Given the description of an element on the screen output the (x, y) to click on. 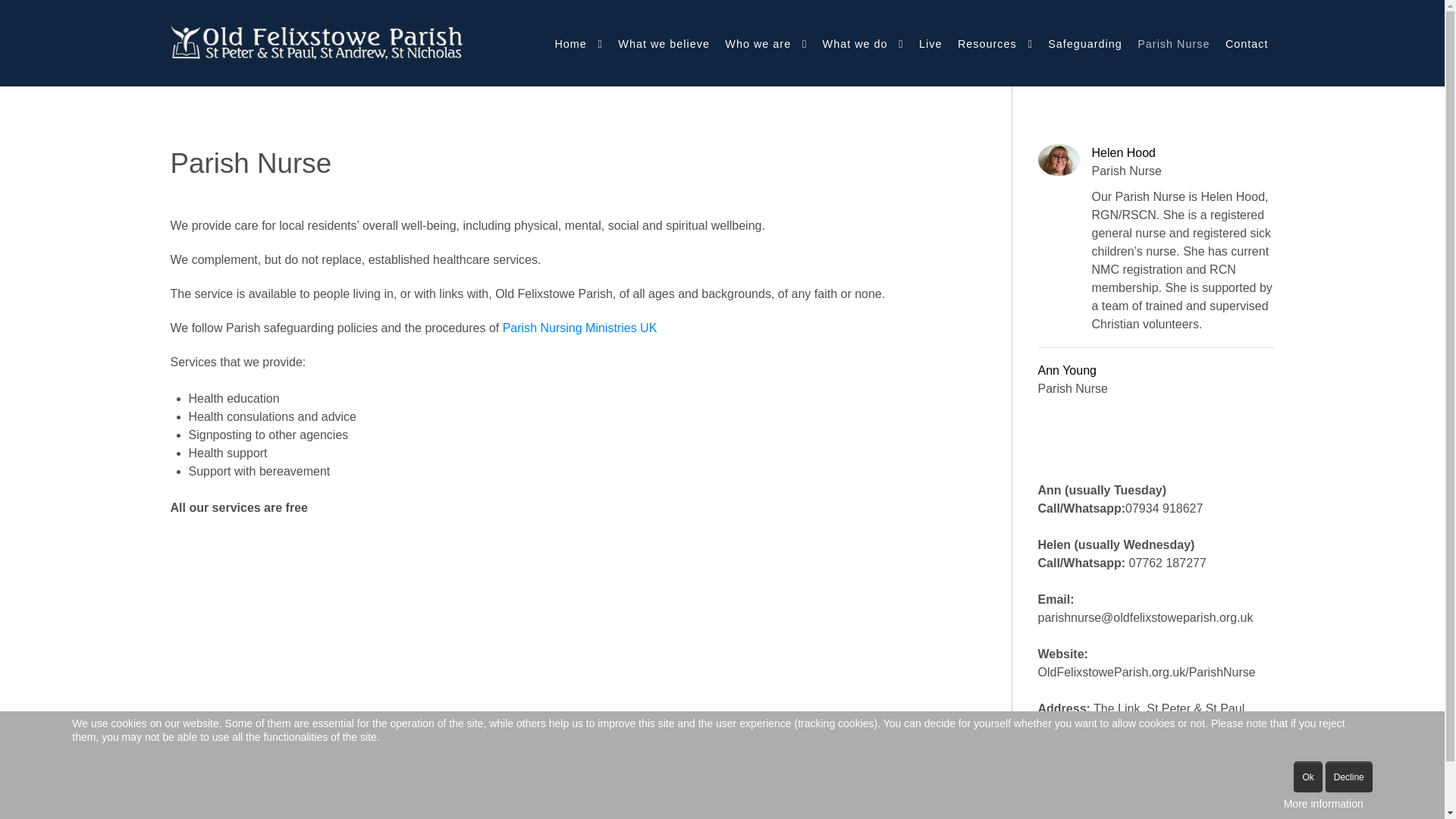
What we believe (663, 44)
OFP (317, 41)
Resources (995, 44)
Home (578, 44)
Helen Hood (1183, 153)
Contact (1247, 44)
Parish Nurse (1173, 44)
Ann Young (1071, 370)
Ann Young (1071, 370)
Safeguarding (1085, 44)
Helen Hood (1183, 153)
Parish Nursing Ministries UK (580, 327)
Live (929, 44)
